Given the description of an element on the screen output the (x, y) to click on. 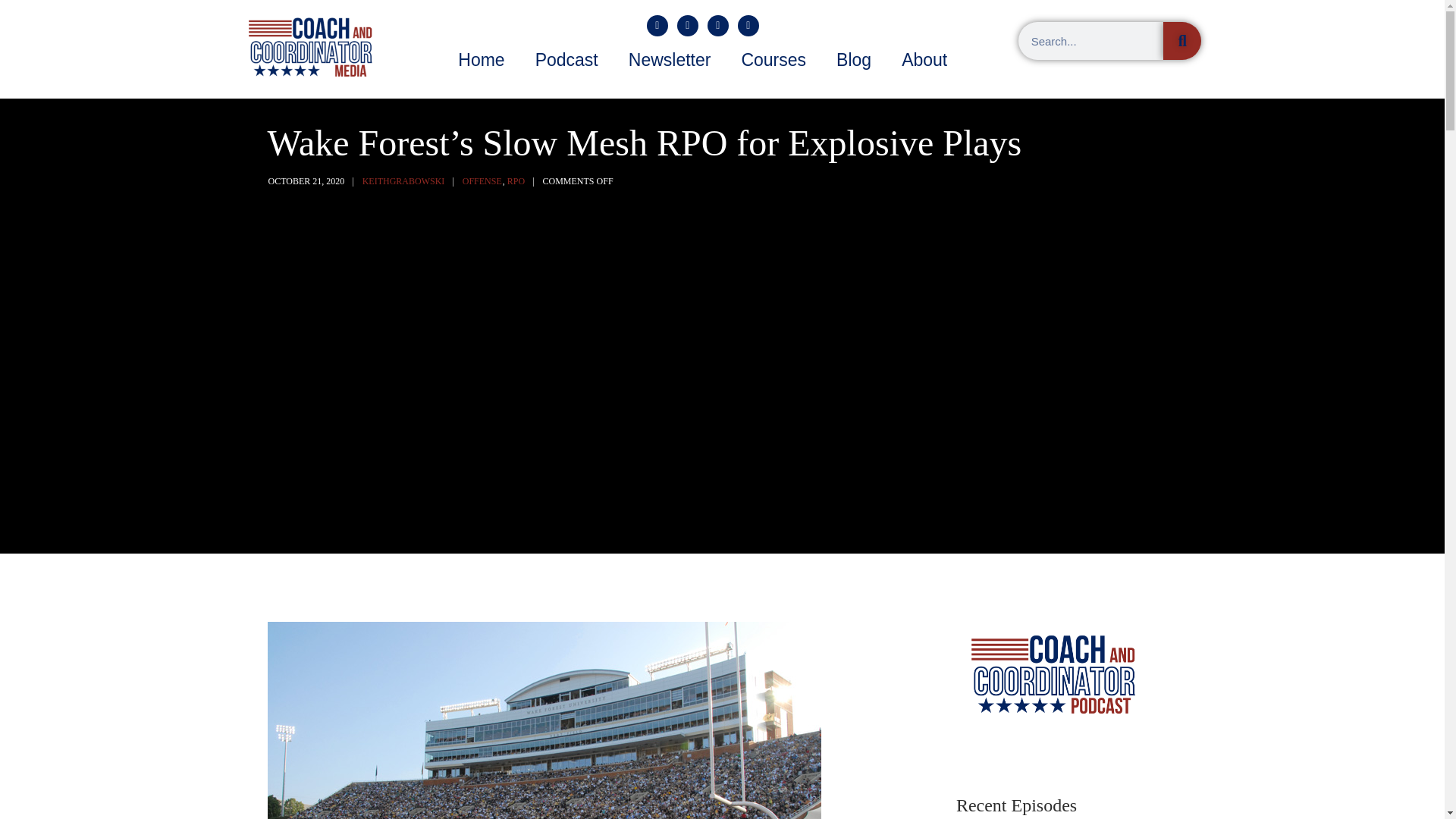
Blog (853, 59)
Podcast (565, 59)
Courses (773, 59)
About (924, 59)
Newsletter (669, 59)
Home (480, 59)
